Given the description of an element on the screen output the (x, y) to click on. 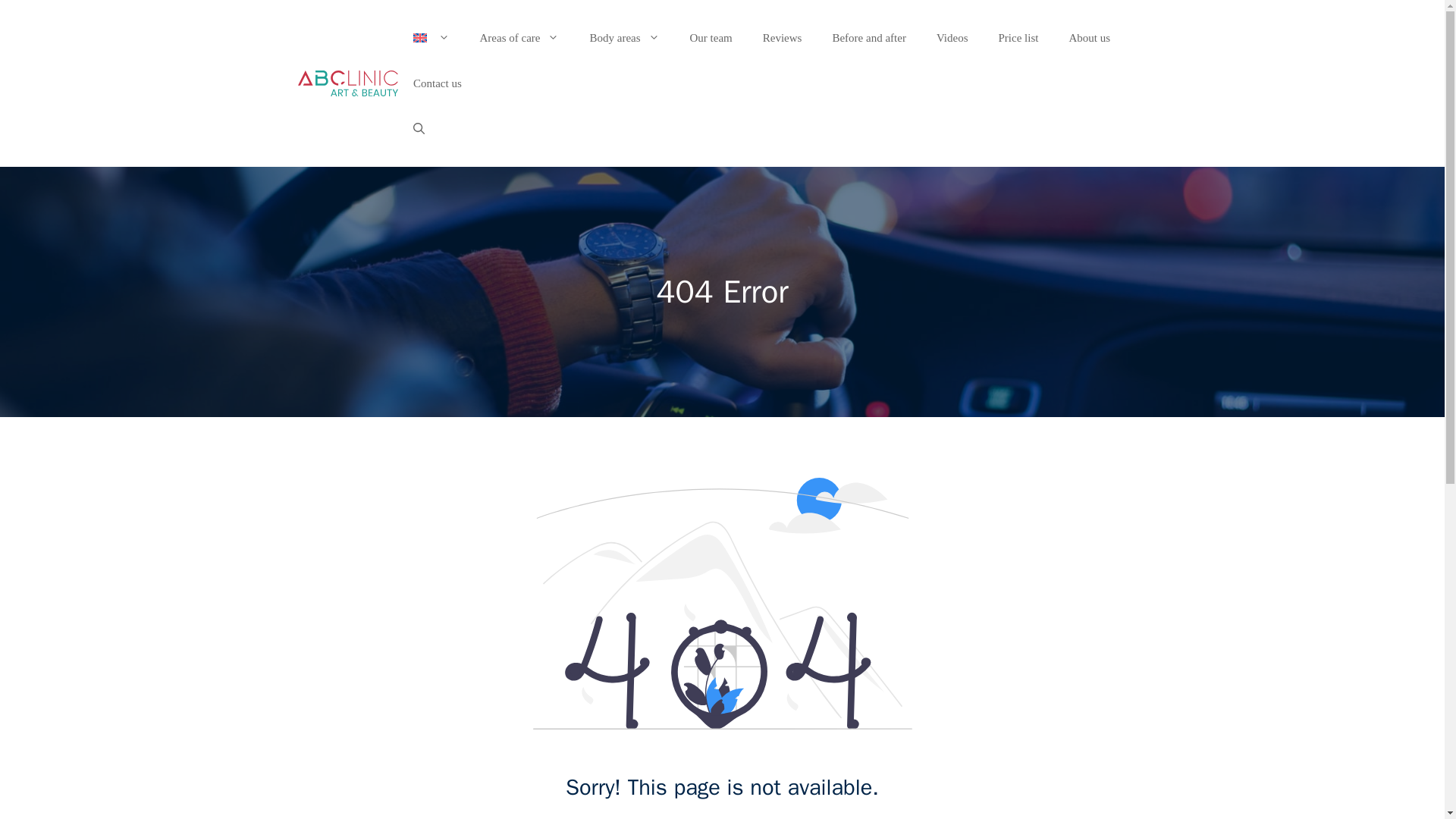
Price list (1017, 37)
Before and after (868, 37)
Body areas (623, 37)
Our team (711, 37)
About us (1088, 37)
Reviews (782, 37)
Areas of care (519, 37)
Contact us (437, 83)
Videos (952, 37)
